Given the description of an element on the screen output the (x, y) to click on. 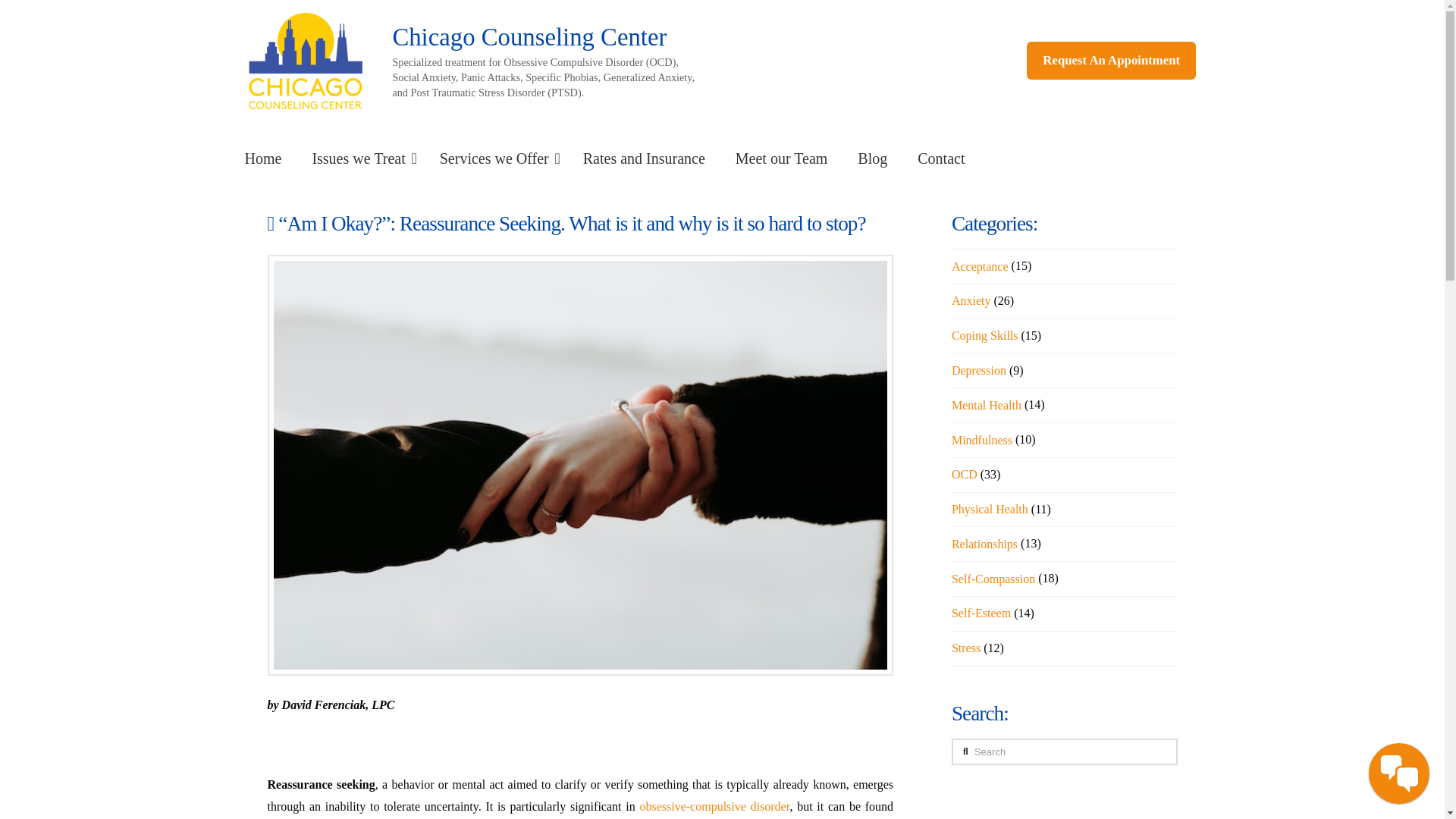
obsessive-compulsive disorder (714, 806)
Contact (940, 158)
Anxiety (971, 300)
Meet our Team (781, 158)
Home (262, 158)
Services we Offer (496, 158)
Rates and Insurance (643, 158)
Issues we Treat (360, 158)
Blog (872, 158)
Request An Appointment (1110, 60)
Acceptance (980, 266)
